Given the description of an element on the screen output the (x, y) to click on. 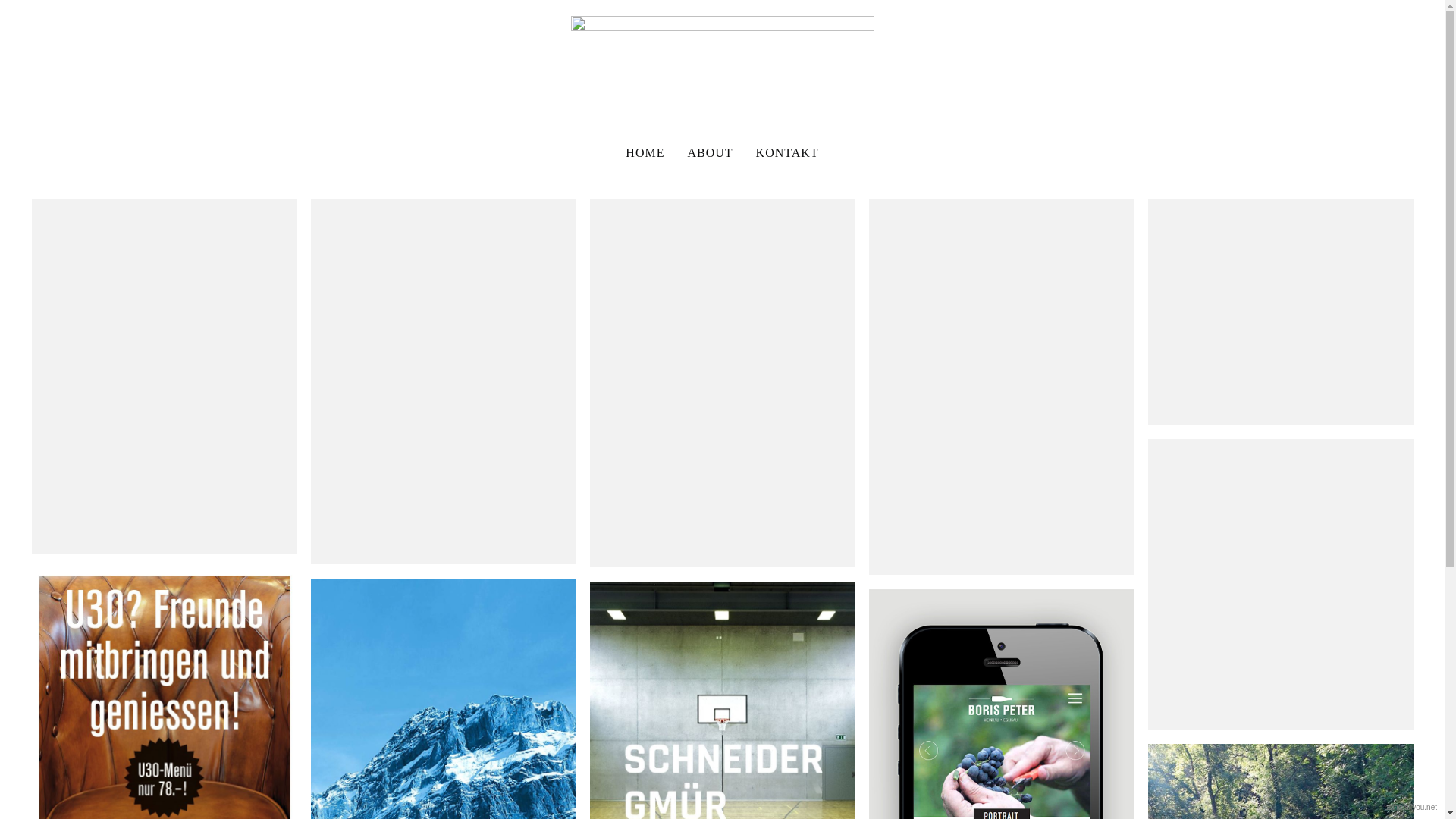
ABOUT Element type: text (709, 153)
allyou.net Element type: text (1420, 807)
KONTAKT Element type: text (787, 153)
HOME Element type: text (644, 153)
